Given the description of an element on the screen output the (x, y) to click on. 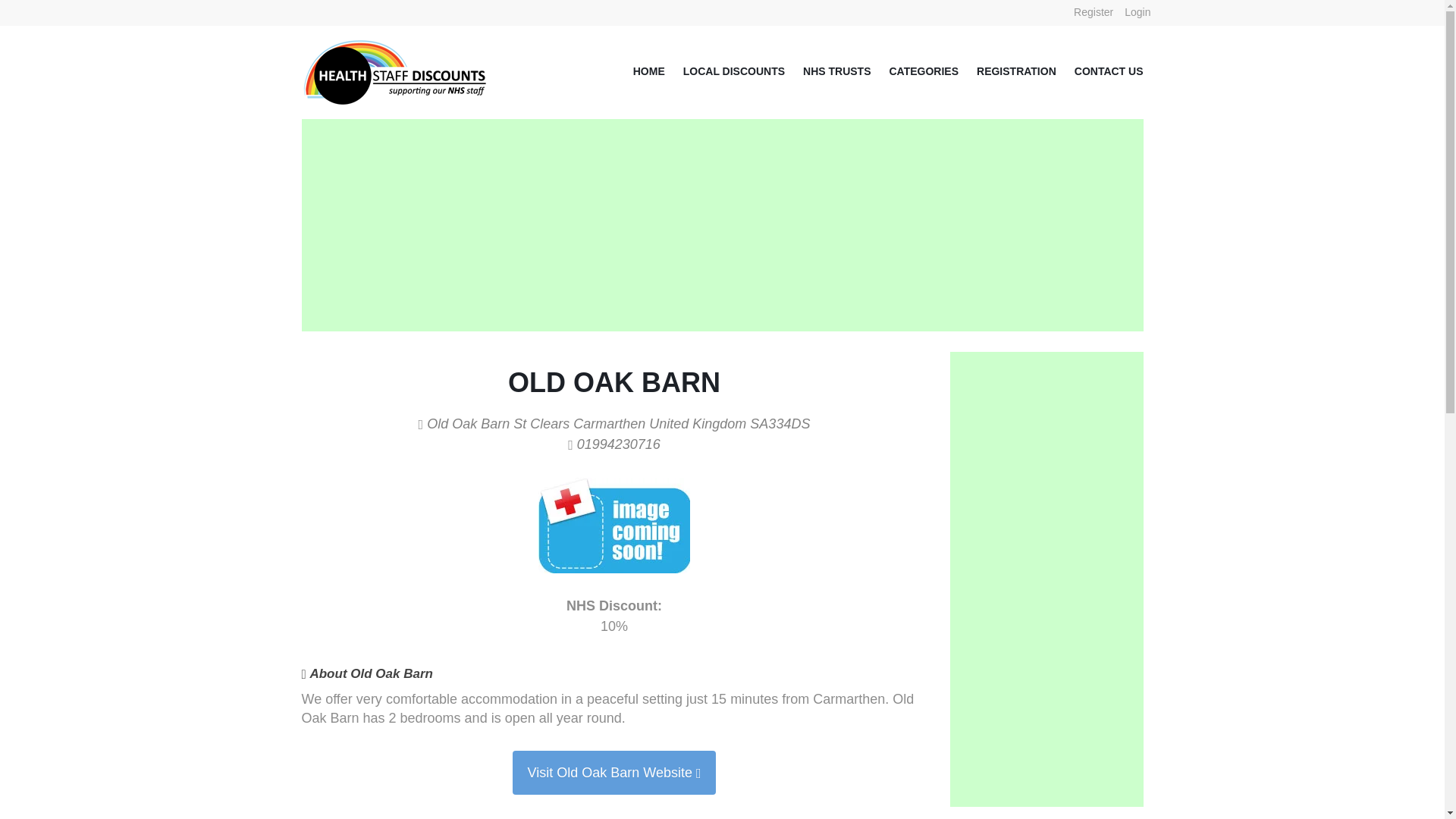
CATEGORIES (914, 71)
Visit Old Oak Barn Website (613, 772)
Register (1093, 12)
HOME (639, 71)
Login (1137, 12)
LOCAL DISCOUNTS (724, 71)
NHS TRUSTS (827, 71)
Health Staff Discounts (396, 48)
Login (1137, 12)
Register (1093, 12)
CONTACT US (1099, 71)
REGISTRATION (1007, 71)
